Given the description of an element on the screen output the (x, y) to click on. 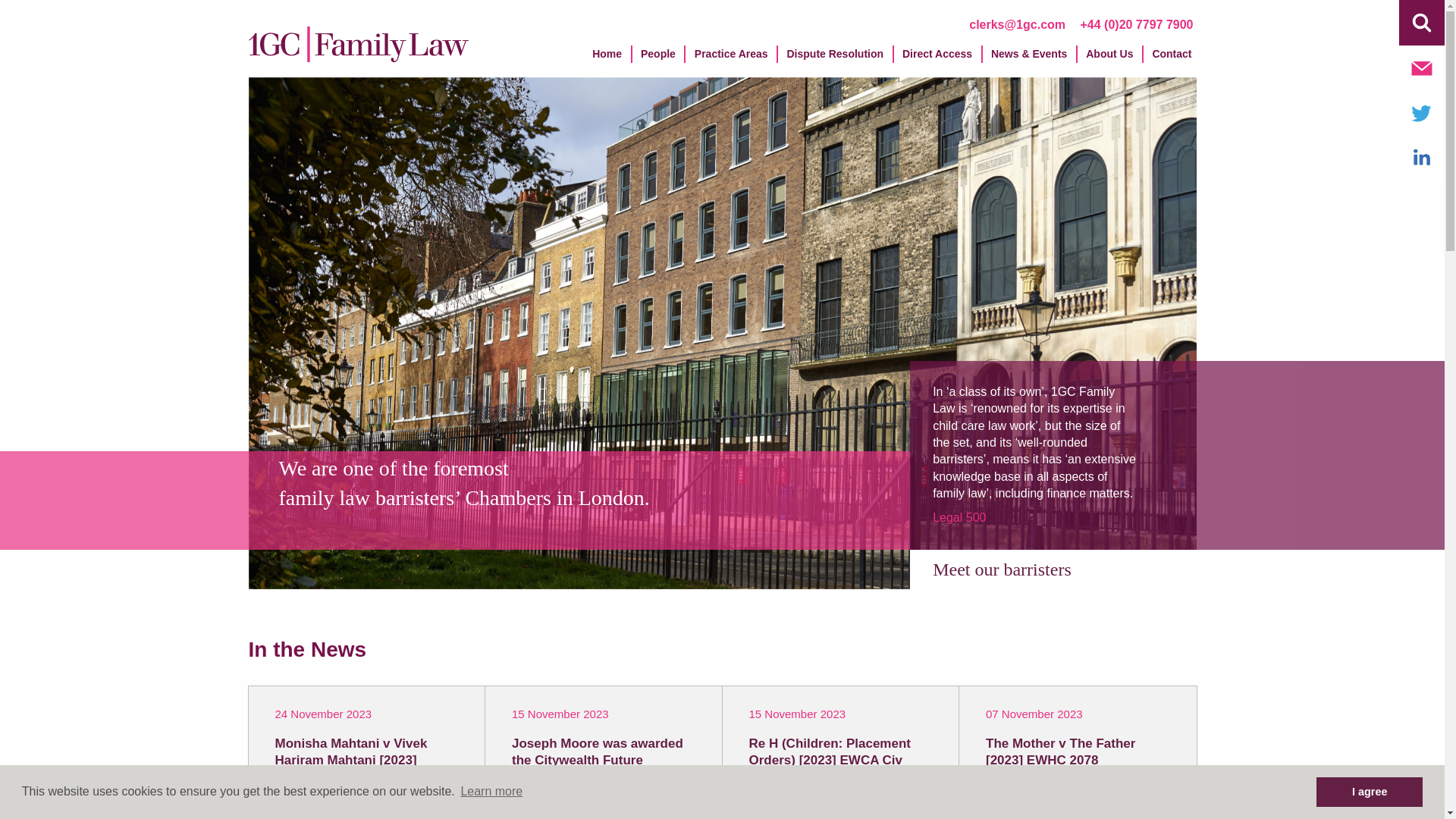
+44 (0)20 7797 7900 Element type: text (1135, 24)
Learn more Element type: text (491, 791)
Home Element type: text (606, 59)
I agree Element type: text (1369, 791)
Practice Areas Element type: text (731, 59)
Dispute Resolution Element type: text (835, 59)
Direct Access Element type: text (936, 59)
About Us Element type: text (1109, 59)
People Element type: text (658, 59)
News & Events Element type: text (1028, 59)
Contact Element type: text (1171, 59)
clerks@1gc.com Element type: text (1017, 24)
Meet our barristers Element type: text (1001, 569)
